Given the description of an element on the screen output the (x, y) to click on. 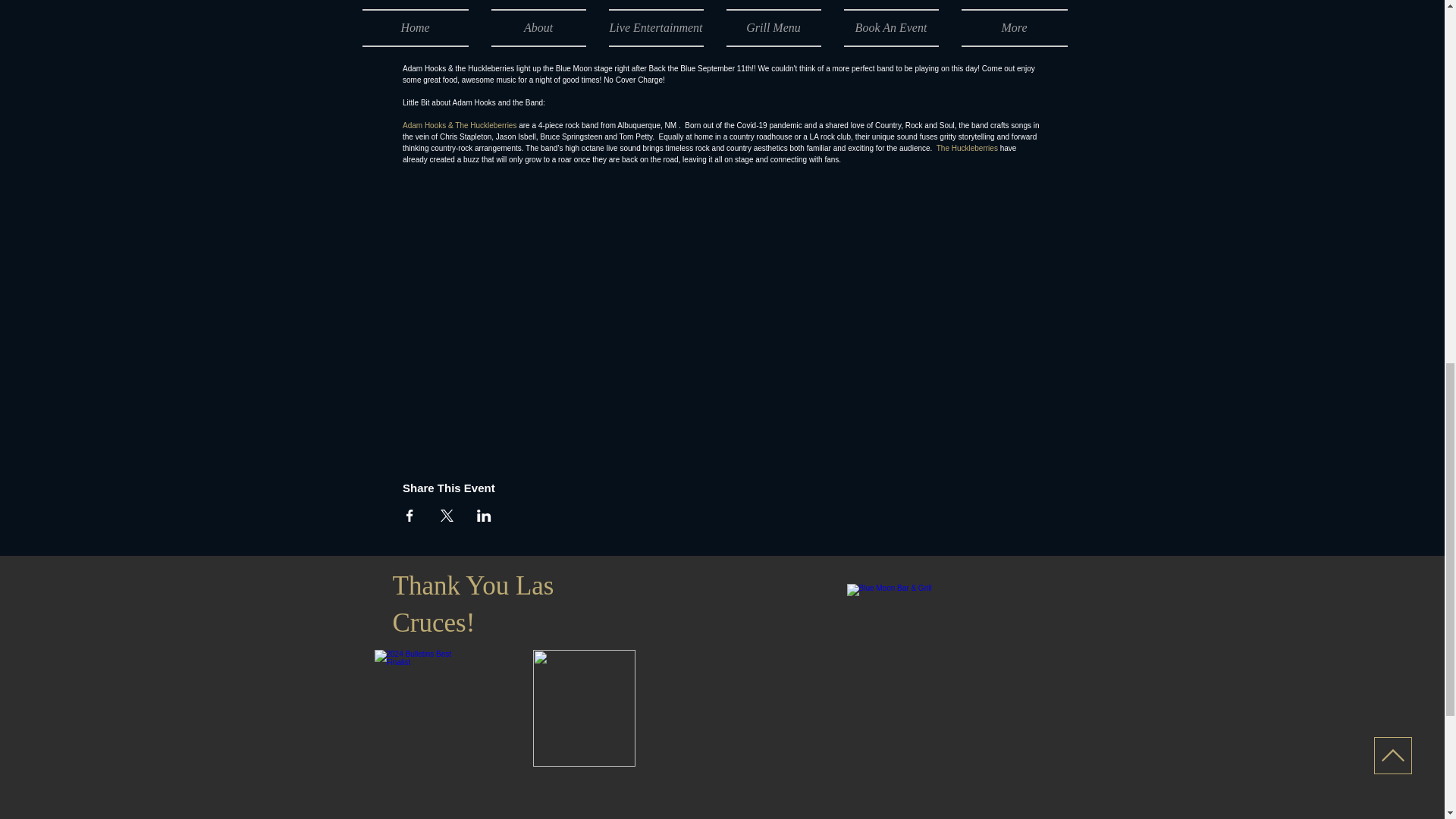
The Huckleberries (966, 148)
BlueMoonlogo.png (953, 671)
